Given the description of an element on the screen output the (x, y) to click on. 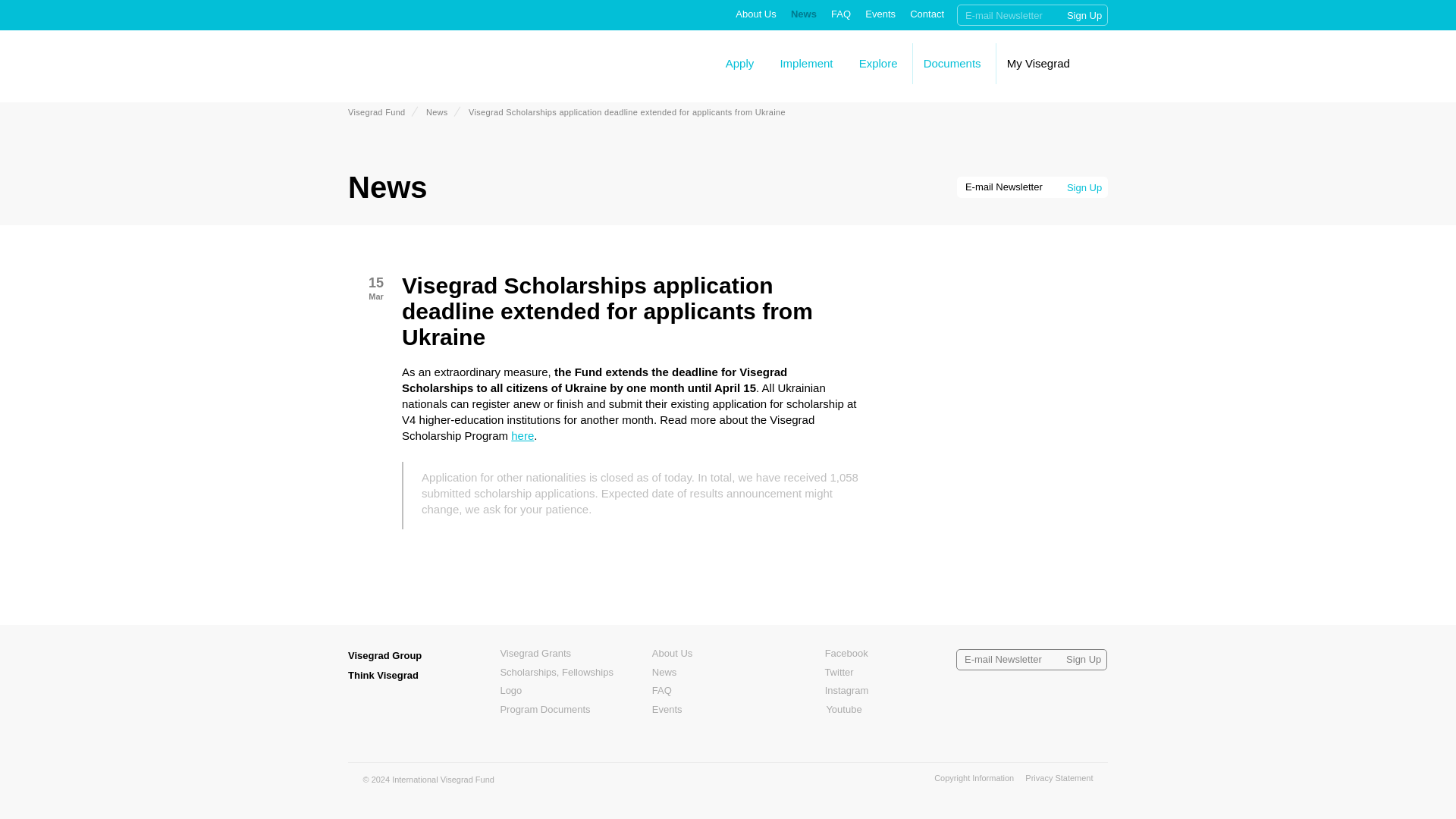
Sign Up (1084, 14)
My Visegrad (1038, 62)
Sign Up (1084, 14)
Events (879, 13)
Documents (952, 62)
Implement (805, 62)
FAQ (840, 13)
Contact (926, 13)
About Us (755, 13)
